Given the description of an element on the screen output the (x, y) to click on. 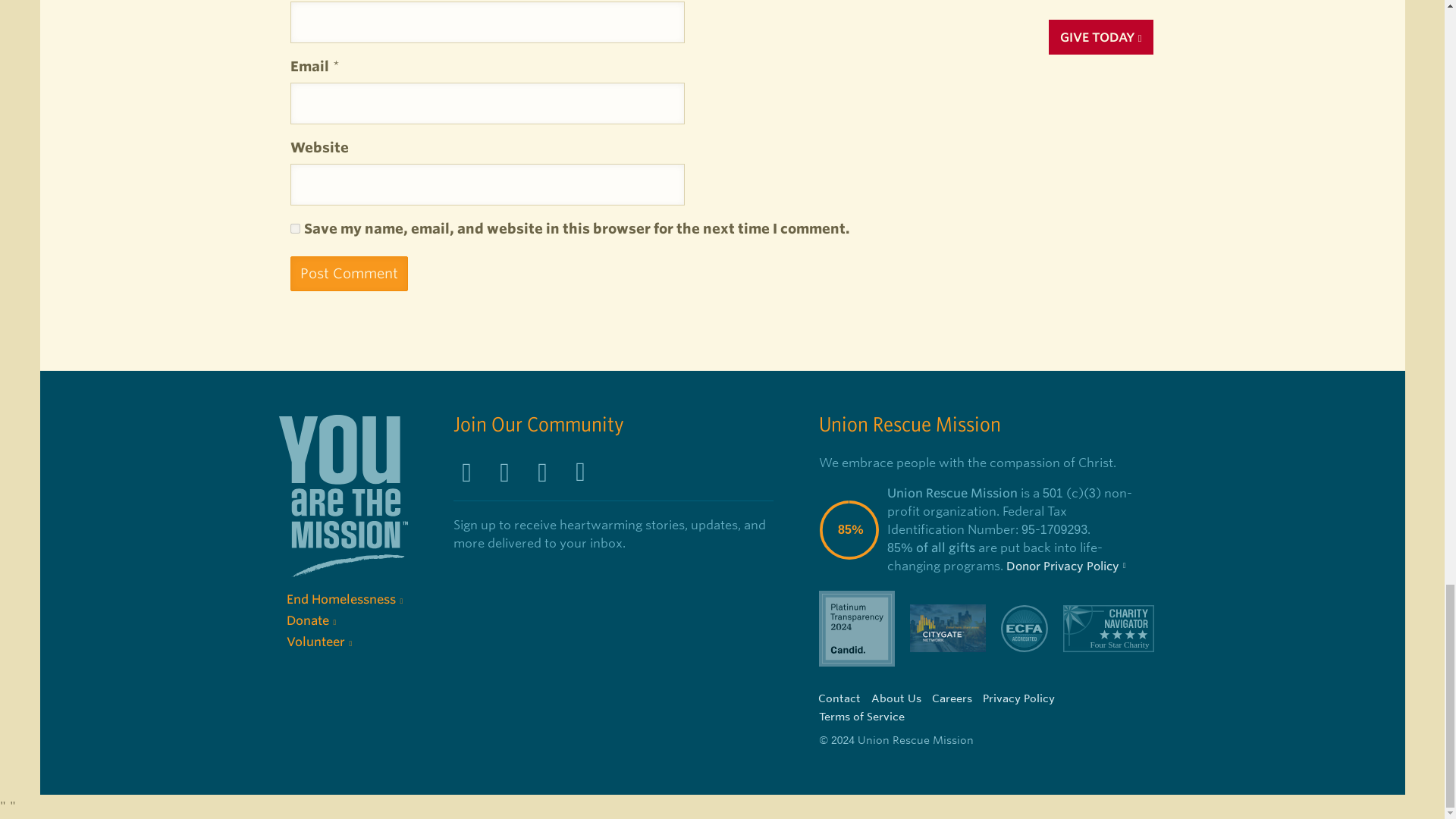
yes (294, 228)
Post Comment (348, 273)
